Given the description of an element on the screen output the (x, y) to click on. 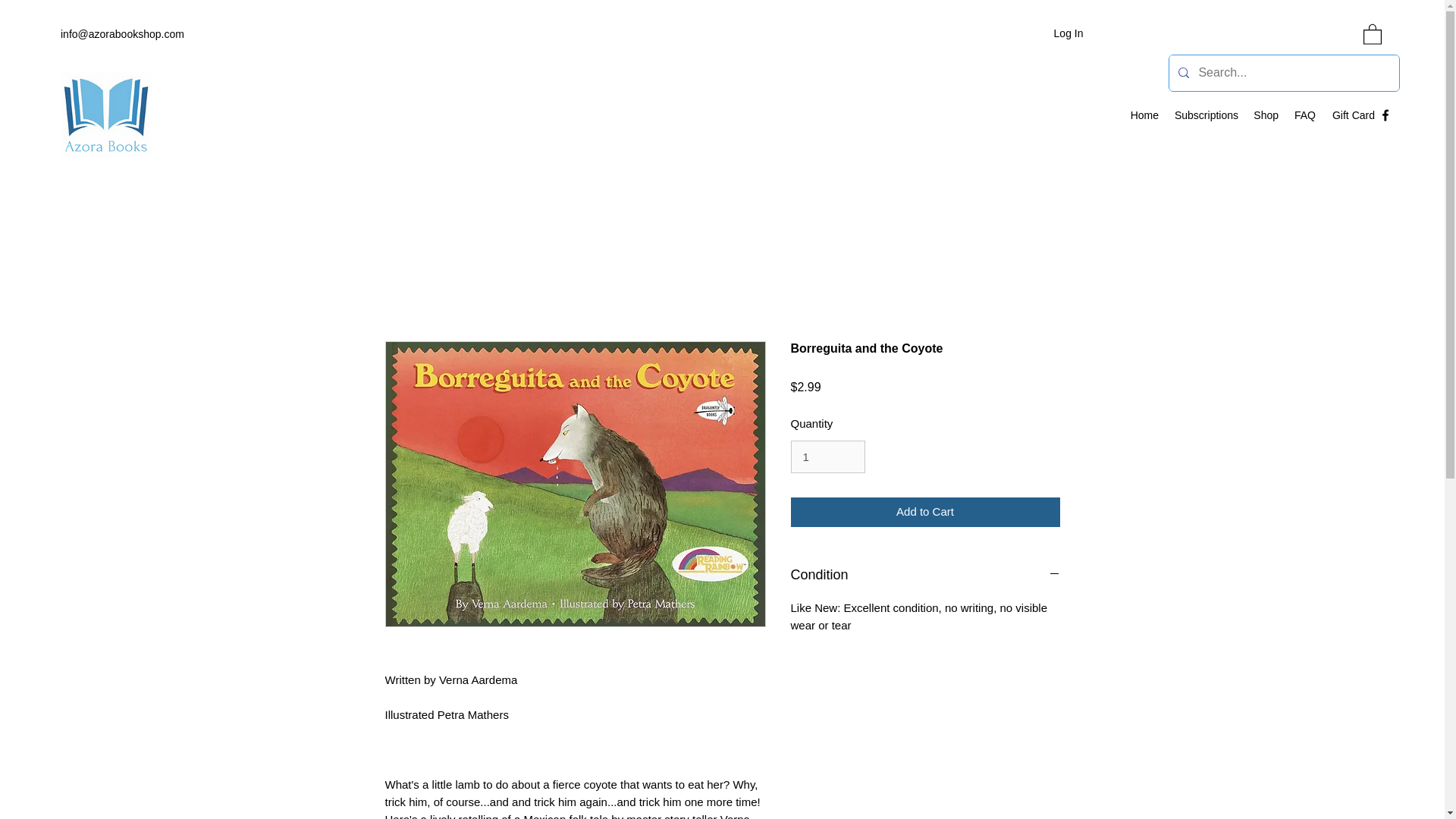
Add to Cart (924, 512)
Condition (924, 575)
1 (827, 457)
Home (1144, 115)
FAQ (1304, 115)
Gift Card (1352, 115)
Subscriptions (1206, 115)
Log In (1068, 33)
Shop (1265, 115)
